Given the description of an element on the screen output the (x, y) to click on. 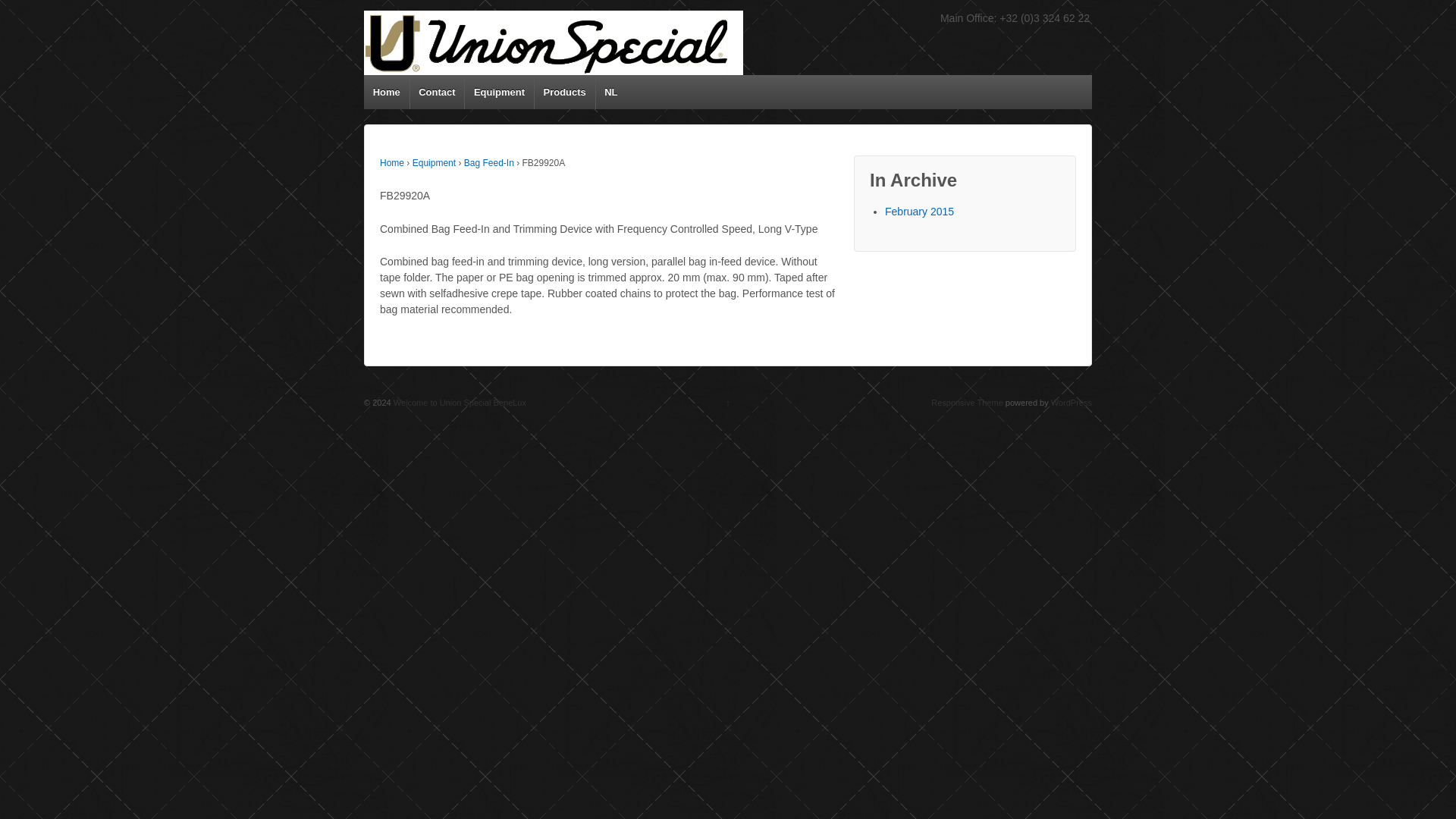
Contact (436, 91)
Equipment (499, 91)
WordPress (1071, 402)
Responsive Theme (967, 402)
Home (386, 91)
Welcome to Union Special BeneLux (458, 402)
